Given the description of an element on the screen output the (x, y) to click on. 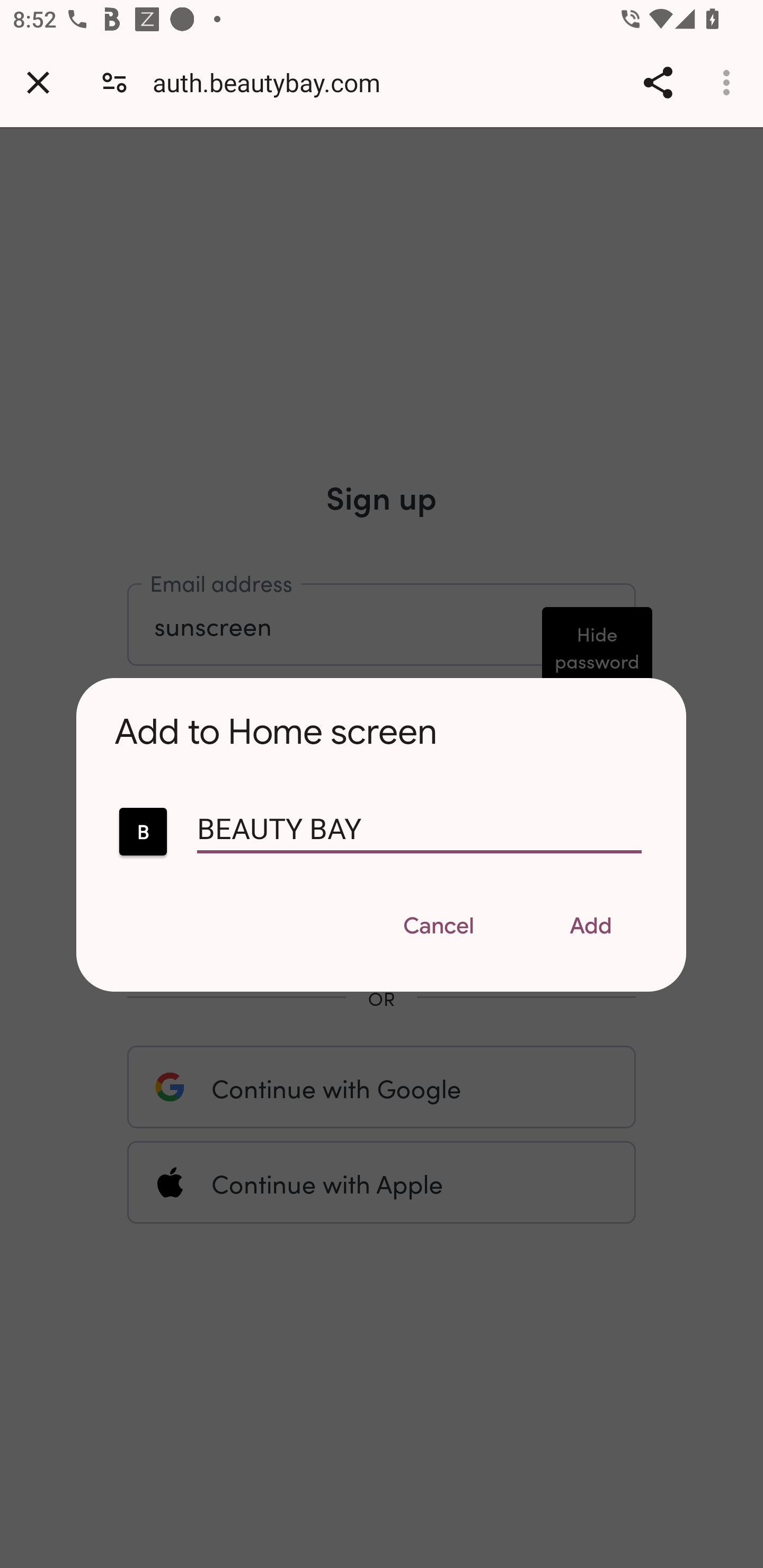
Close tab (38, 82)
Share (657, 82)
Customize and control Google Chrome (729, 82)
Connection is secure (114, 81)
auth.beautybay.com (272, 81)
BEAUTY BAY (142, 831)
BEAUTY BAY (418, 836)
Cancel (438, 927)
Add (590, 927)
